Given the description of an element on the screen output the (x, y) to click on. 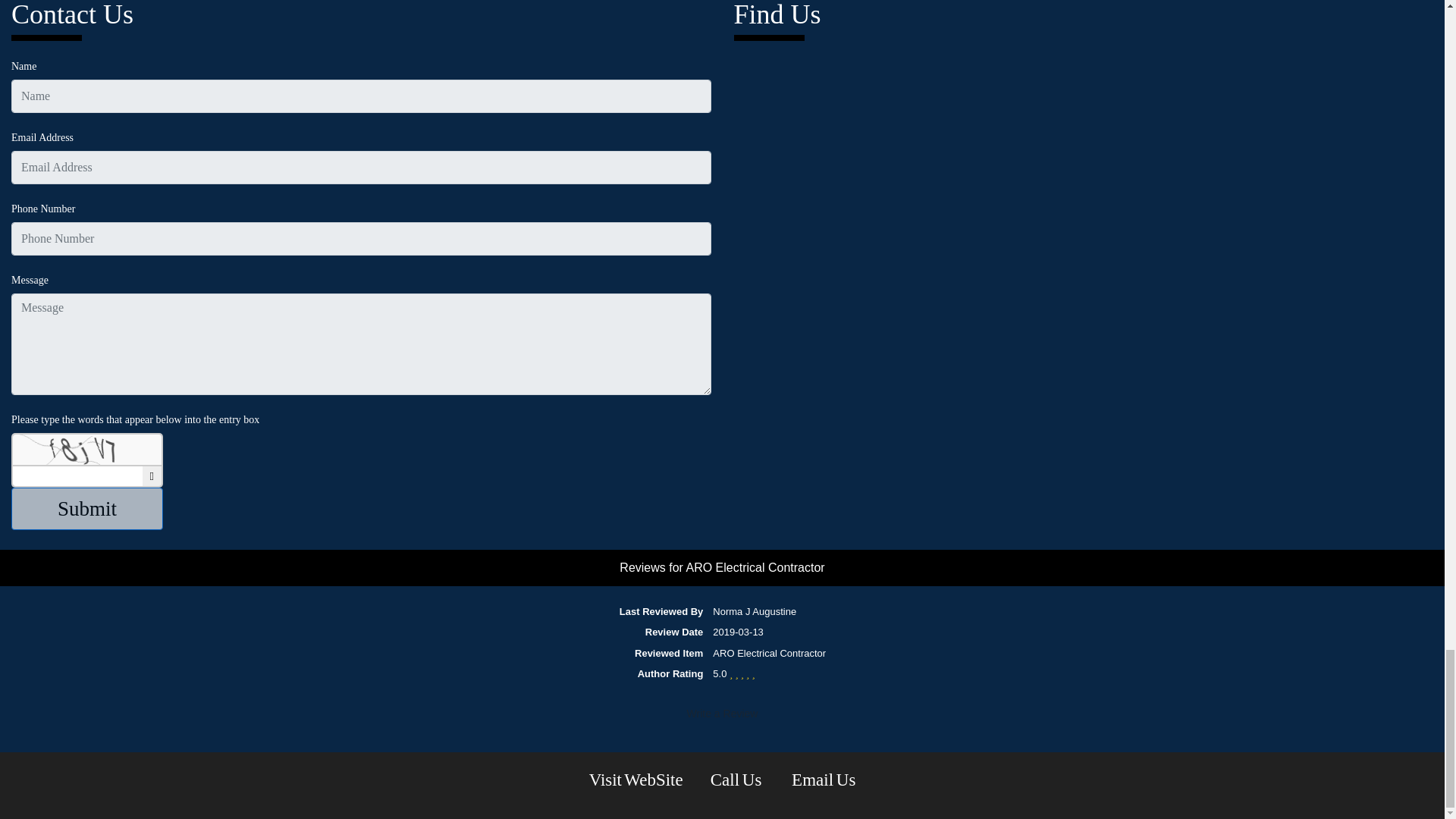
Call Us (737, 779)
Visit WebSite (636, 779)
Write a Review (722, 713)
Submit (87, 508)
Email Us (823, 779)
